Given the description of an element on the screen output the (x, y) to click on. 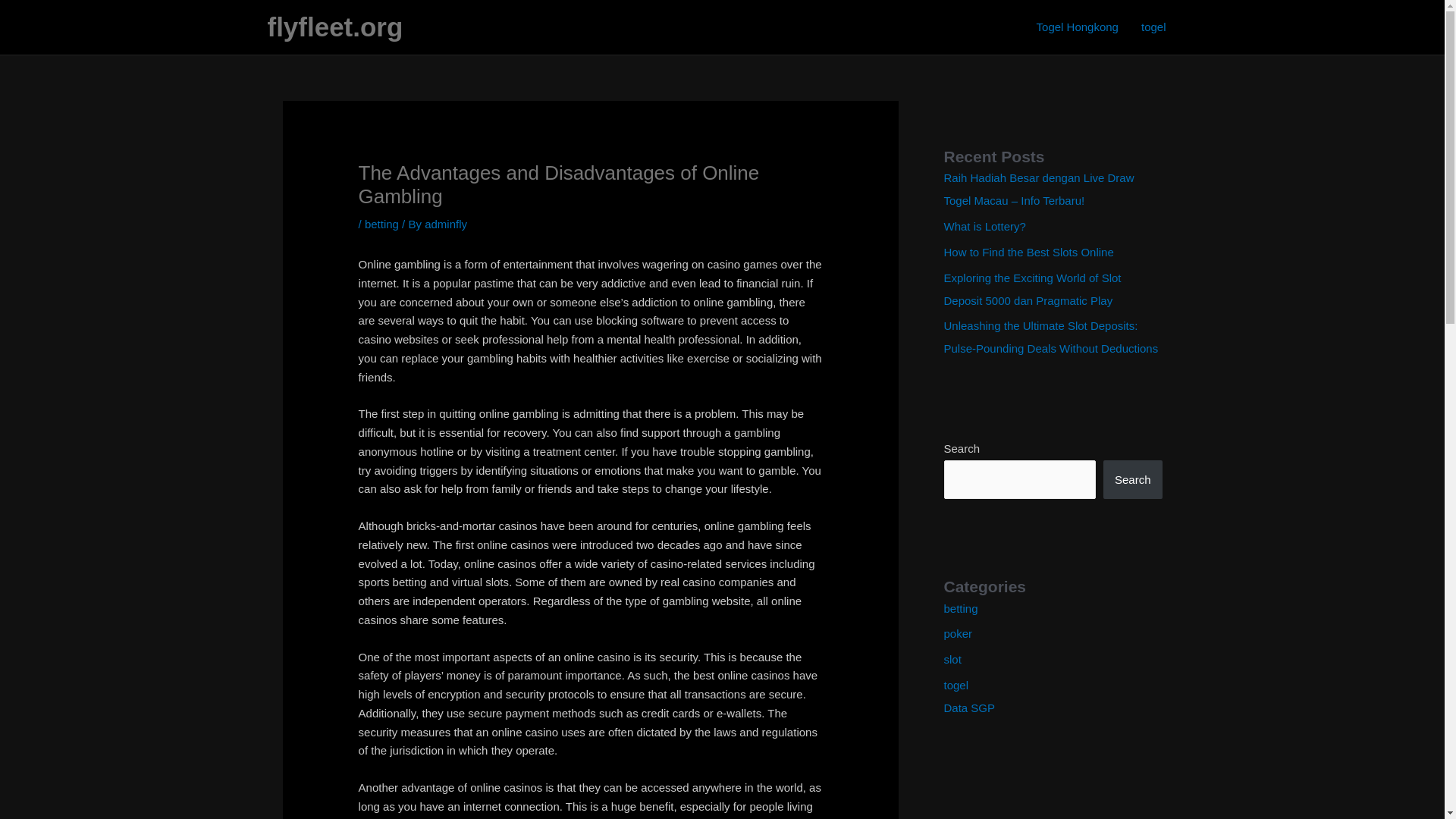
How to Find the Best Slots Online (1028, 251)
betting (381, 223)
togel (1153, 27)
Search (1132, 479)
View all posts by adminfly (446, 223)
What is Lottery? (984, 226)
poker (957, 633)
slot (951, 658)
adminfly (446, 223)
betting (959, 608)
togel (955, 684)
Togel Hongkong (1077, 27)
Data SGP (968, 707)
